Given the description of an element on the screen output the (x, y) to click on. 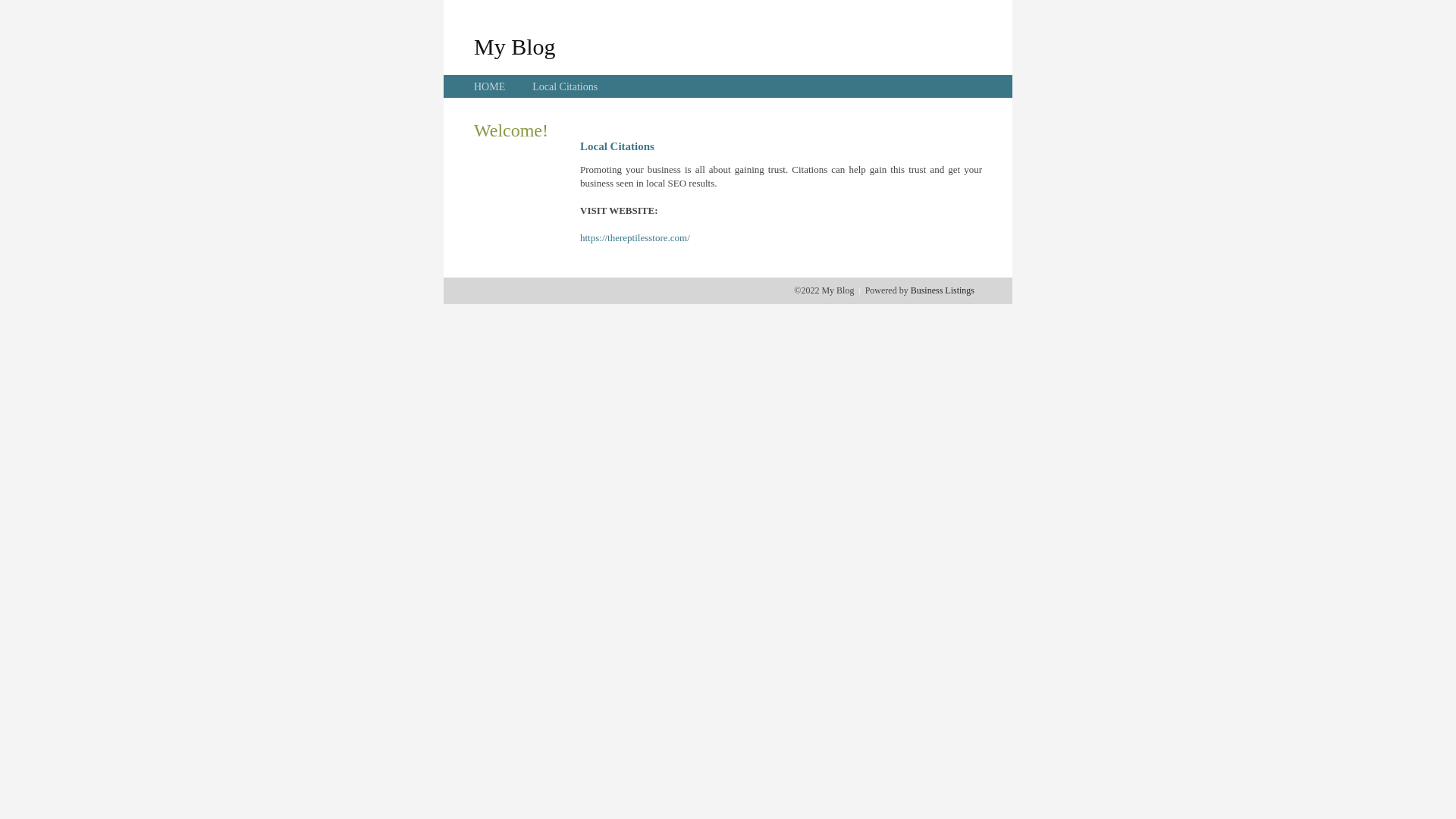
Local Citations Element type: text (564, 86)
My Blog Element type: text (514, 46)
Business Listings Element type: text (942, 290)
HOME Element type: text (489, 86)
https://thereptilesstore.com/ Element type: text (635, 237)
